Given the description of an element on the screen output the (x, y) to click on. 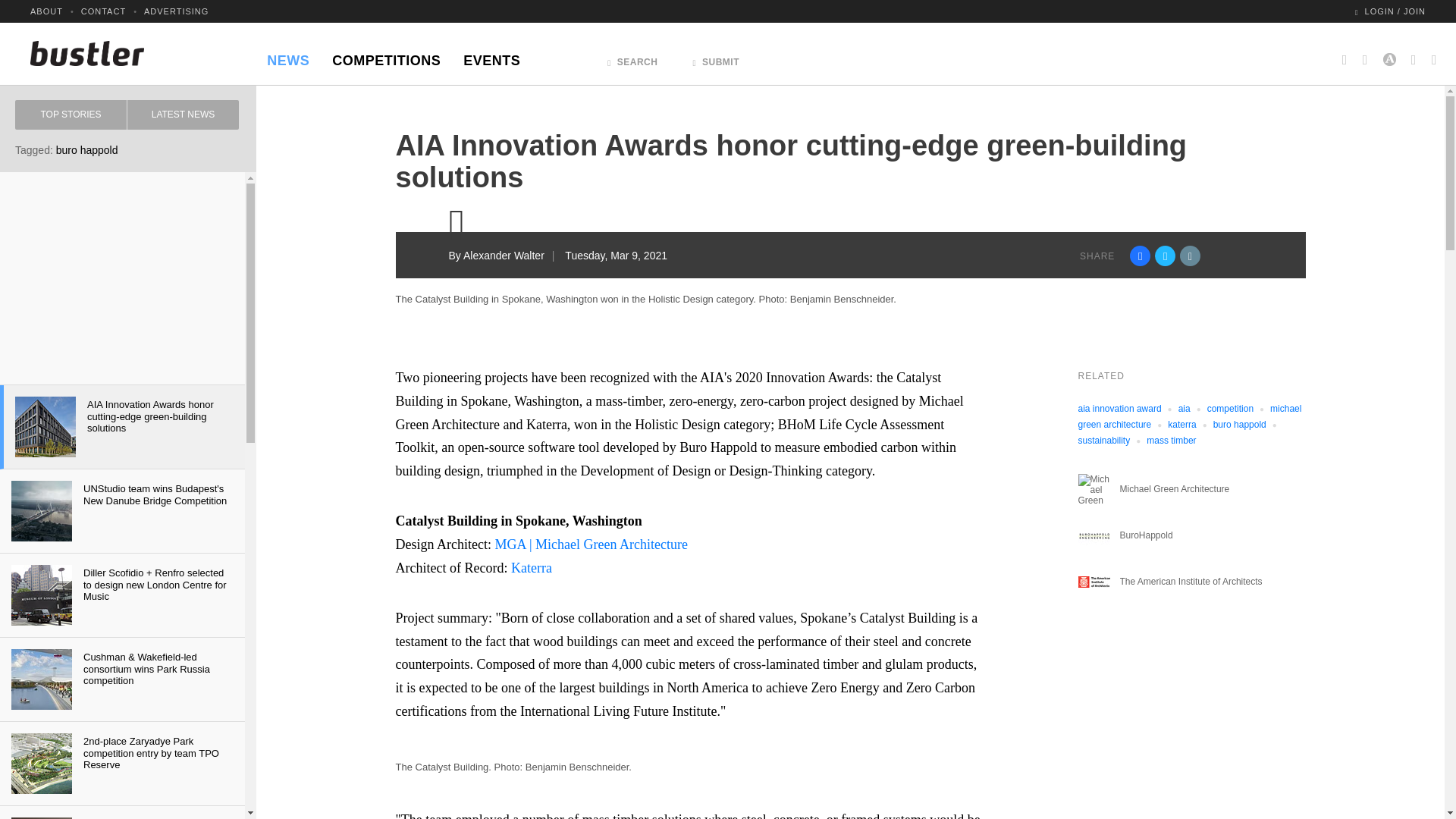
SEARCH (632, 57)
CONTACT (103, 10)
Bustler is powered by Archinect (1389, 53)
EVENTS (491, 56)
ADVERTISING (176, 10)
ABOUT (46, 10)
SUBMIT (715, 57)
COMPETITIONS (385, 56)
NEWS (288, 56)
